Given the description of an element on the screen output the (x, y) to click on. 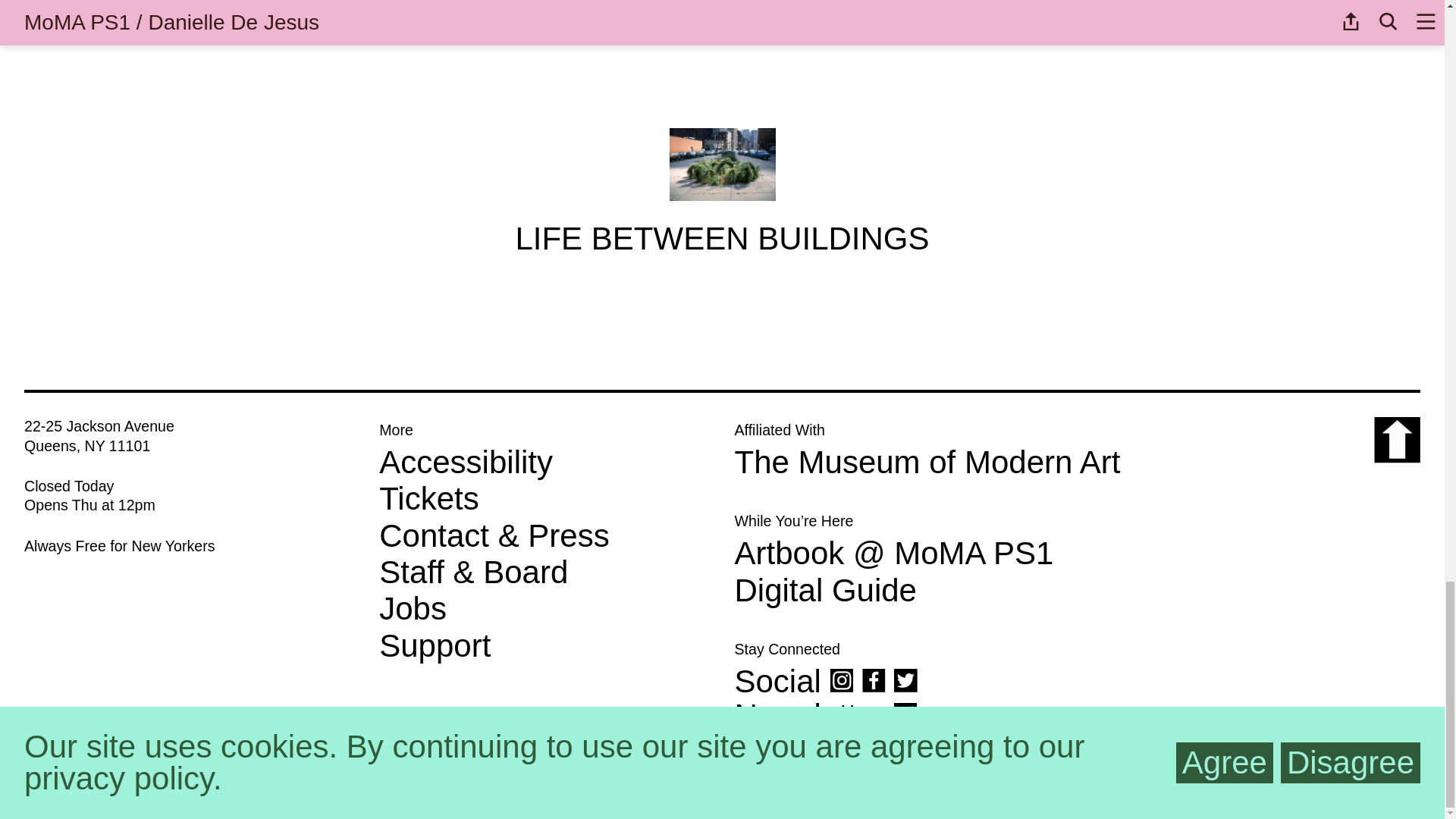
Instagram (841, 680)
Twitter (905, 680)
Facebook (873, 680)
